Given the description of an element on the screen output the (x, y) to click on. 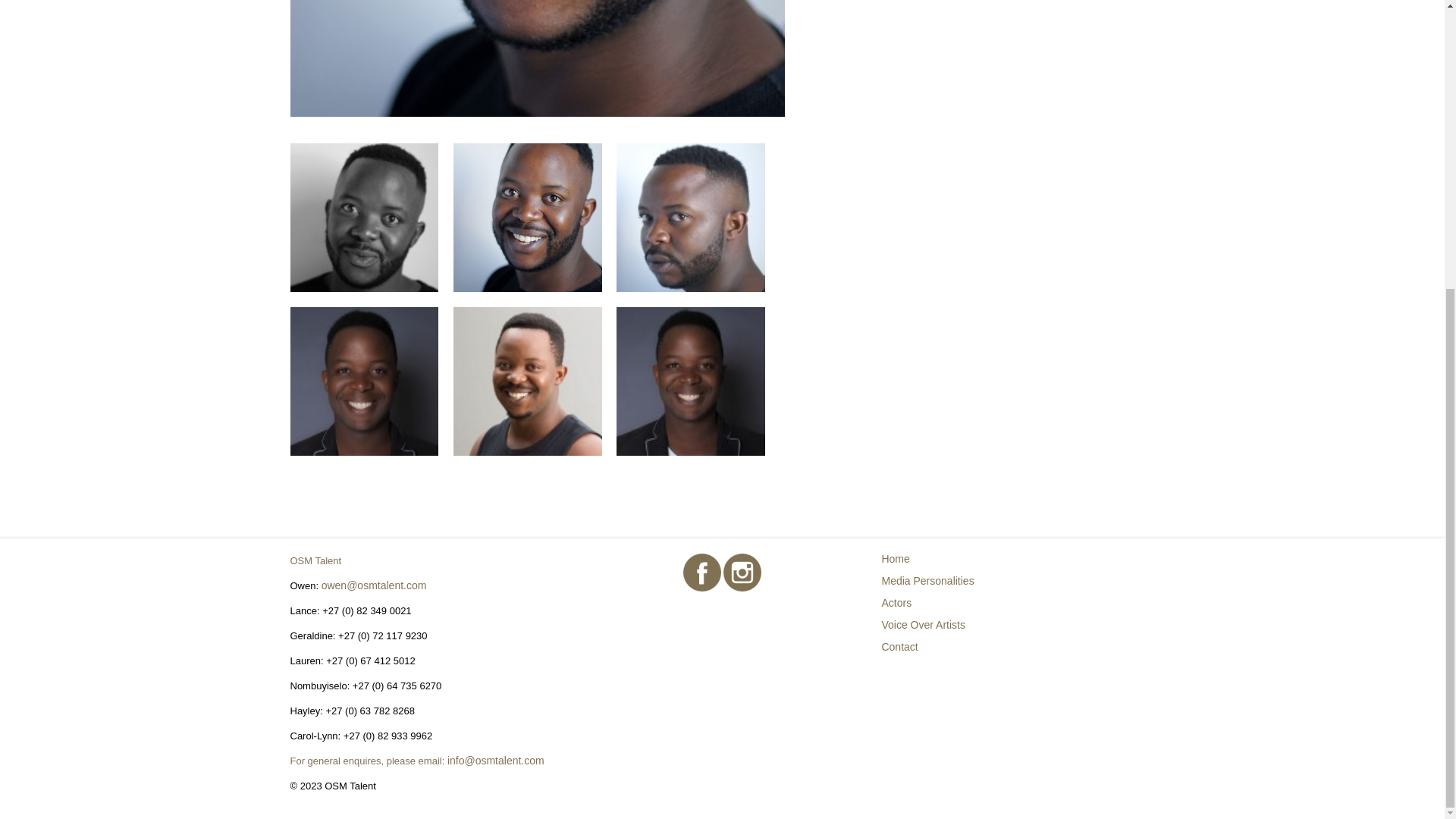
Media Personalities (927, 580)
Home (894, 558)
Actors (895, 603)
Voice Over Artists (921, 624)
Contact (898, 646)
